Given the description of an element on the screen output the (x, y) to click on. 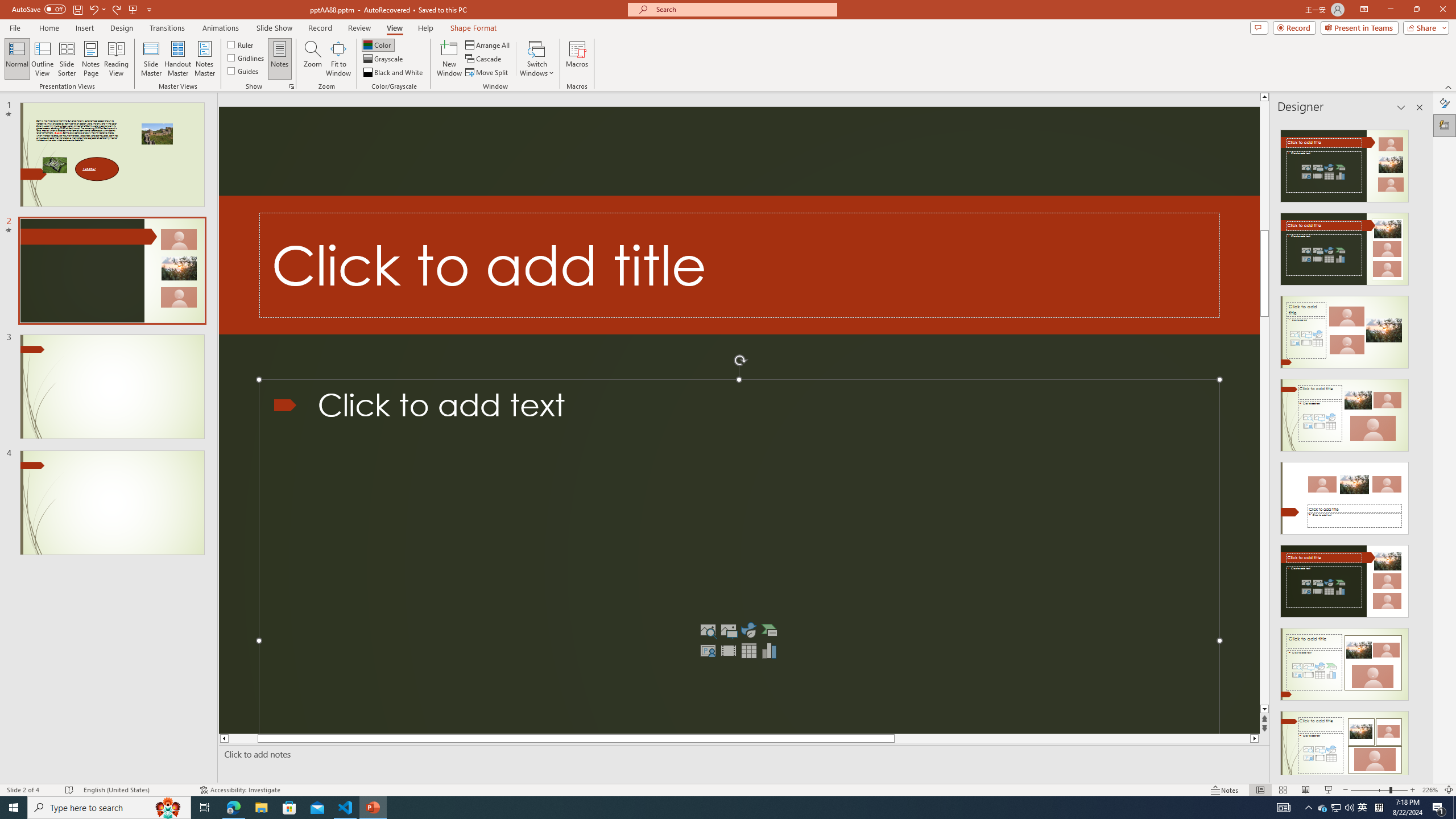
Fit to Window (338, 58)
Grid Settings... (291, 85)
Gridlines (246, 56)
Insert Chart (769, 650)
Handout Master (177, 58)
